Given the description of an element on the screen output the (x, y) to click on. 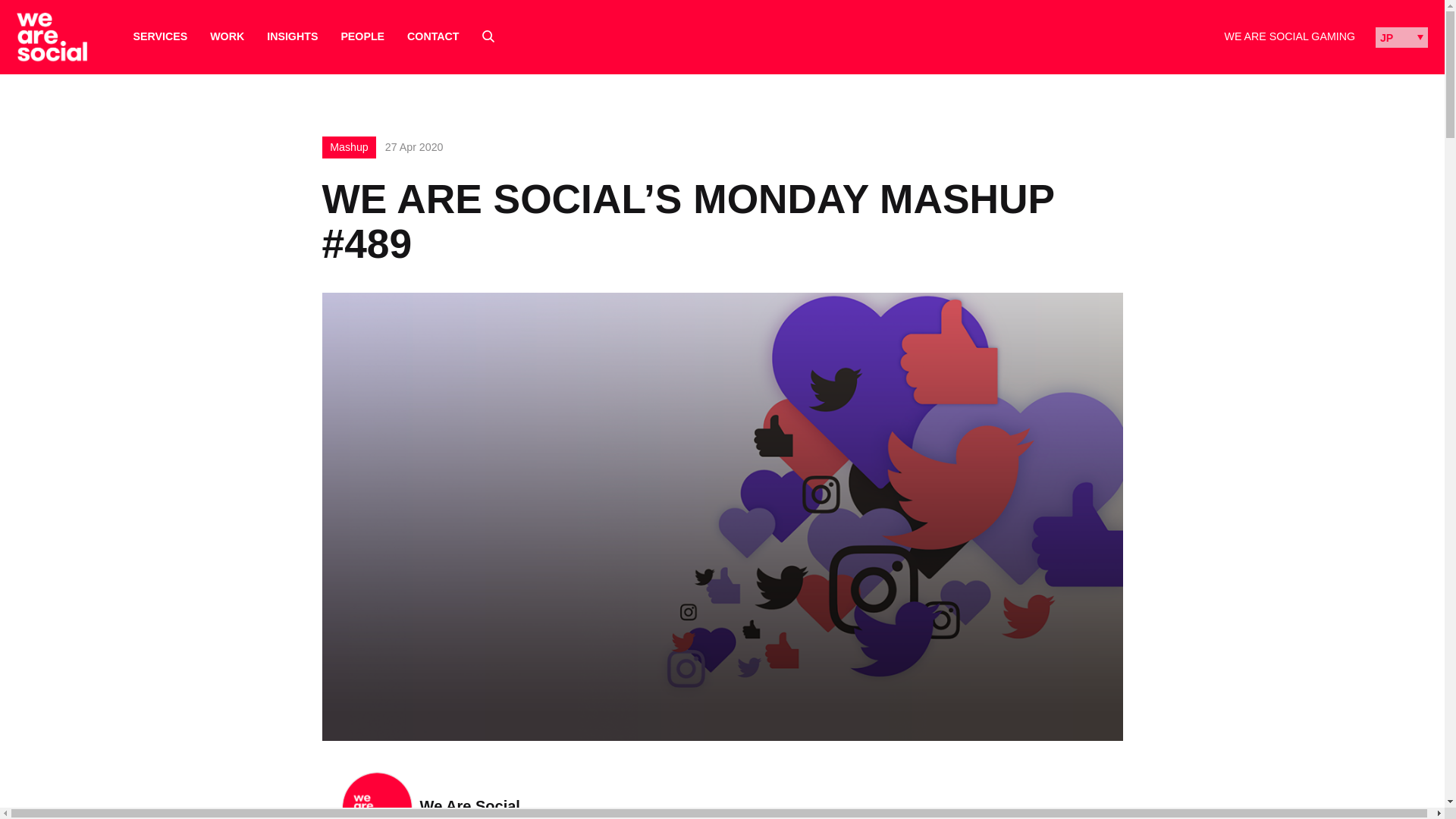
PEOPLE (362, 36)
CONTACT (432, 36)
SERVICES (160, 36)
Contact (432, 36)
WORK (226, 36)
WE ARE SOCIAL GAMING (1289, 36)
Select to toggle search form (488, 36)
Insights (291, 36)
Work (226, 36)
INSIGHTS (291, 36)
